Given the description of an element on the screen output the (x, y) to click on. 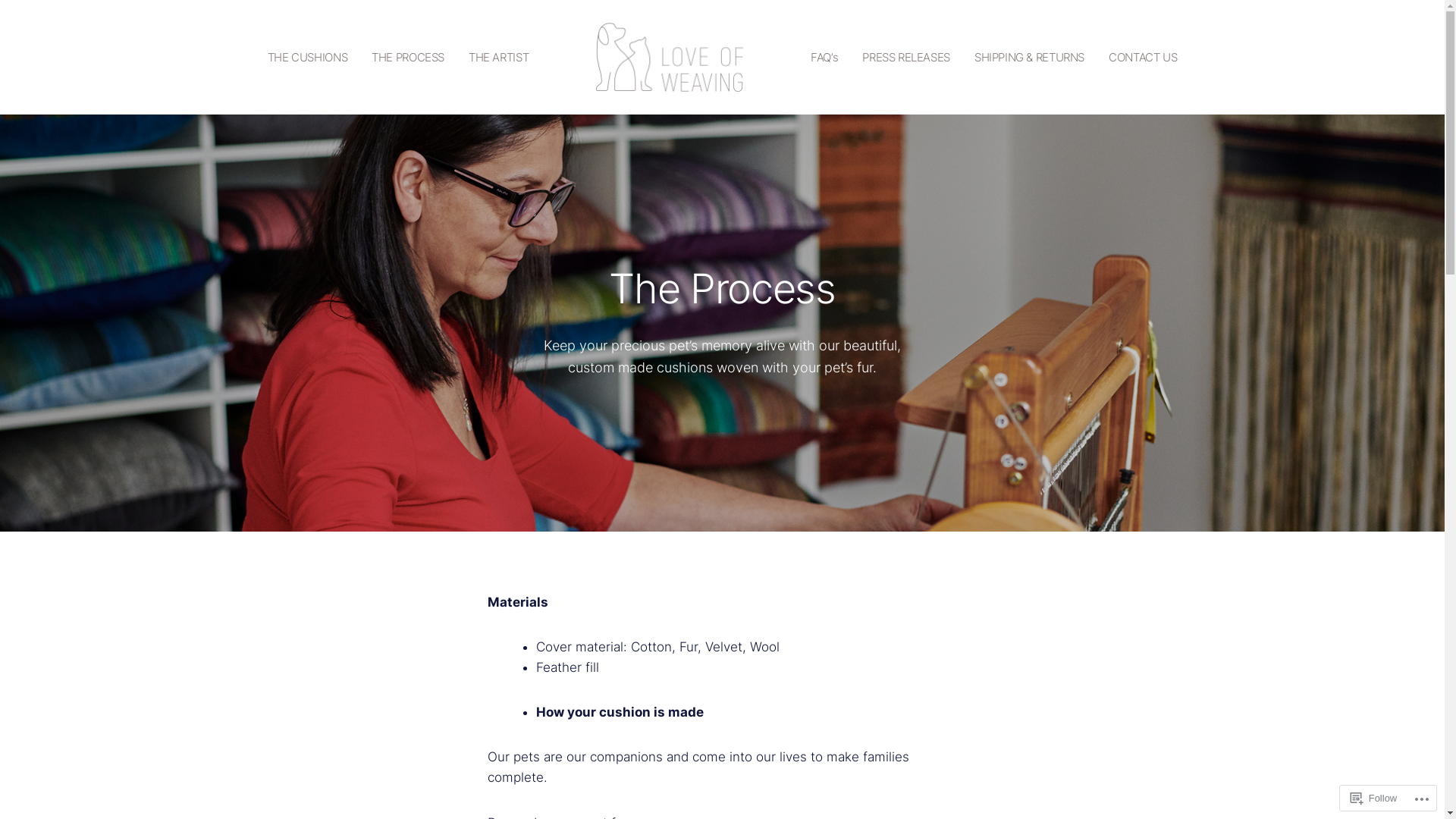
Follow Element type: text (1373, 797)
PRESS RELEASES Element type: text (906, 57)
SHIPPING & RETURNS Element type: text (1029, 57)
THE CUSHIONS Element type: text (307, 57)
THE PROCESS Element type: text (407, 57)
THE ARTIST Element type: text (498, 57)
CONTACT US Element type: text (1142, 57)
